Given the description of an element on the screen output the (x, y) to click on. 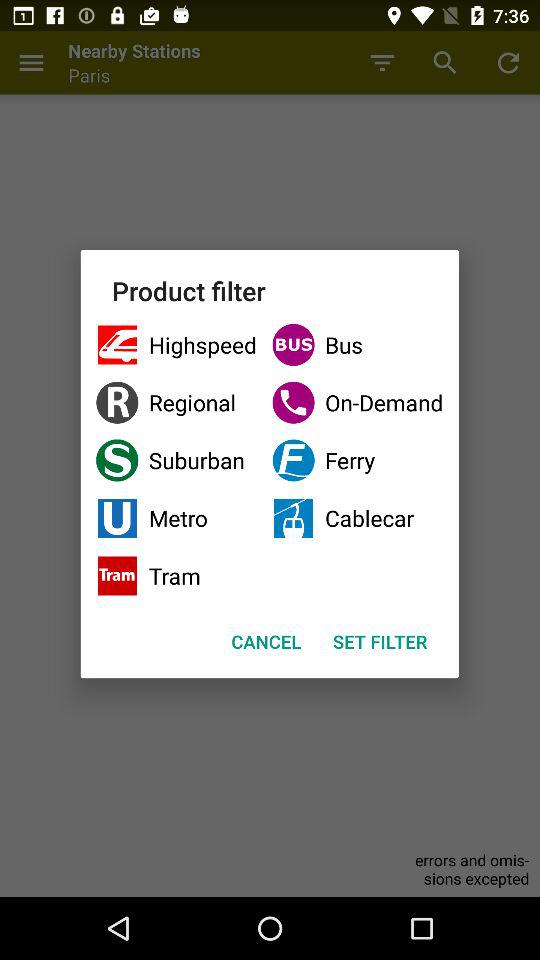
turn off the item above the regional icon (357, 344)
